Given the description of an element on the screen output the (x, y) to click on. 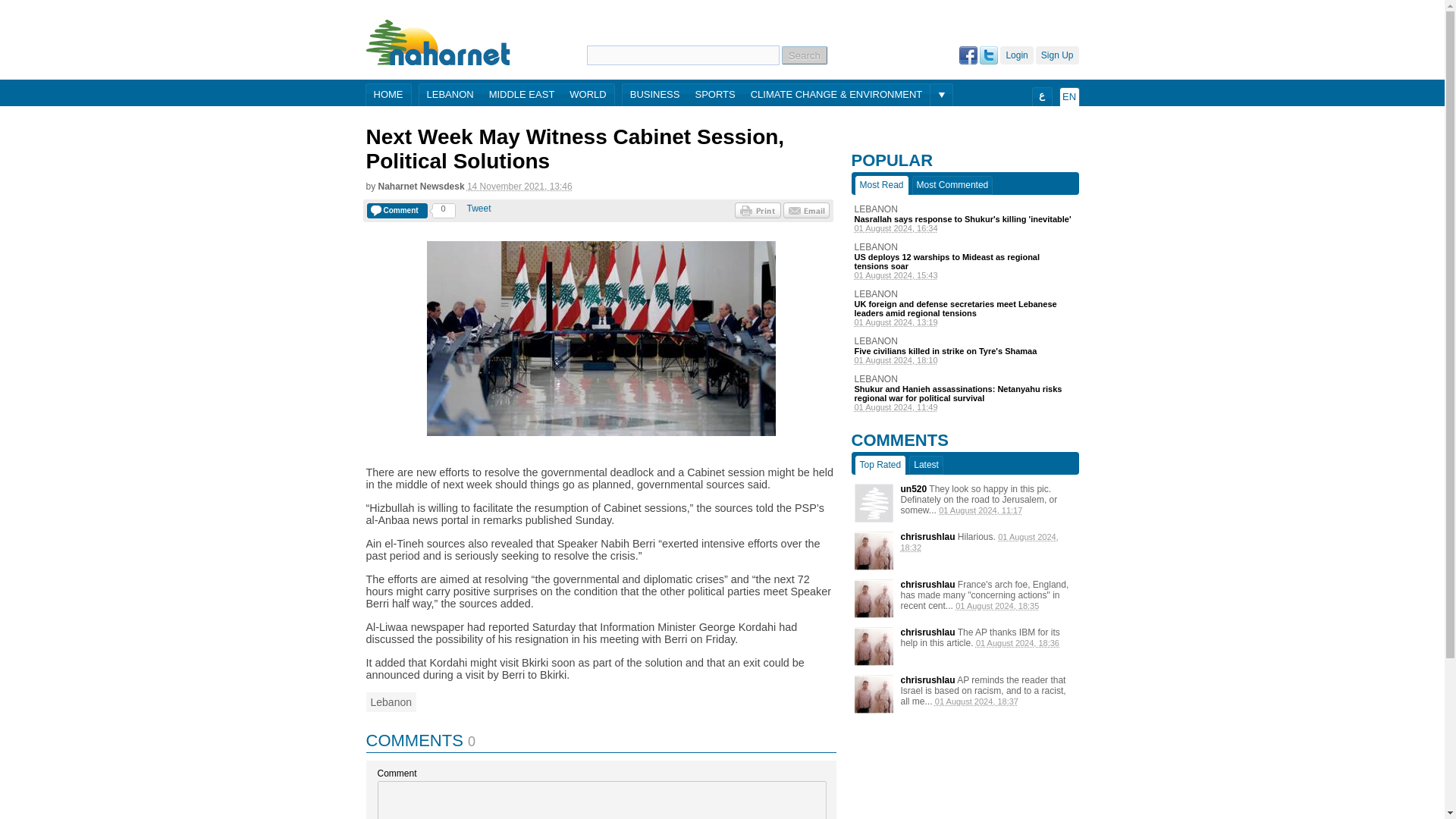
LEBANON (449, 95)
Comment (397, 210)
Naharnet (438, 41)
2024-08-01T08:17:42Z (980, 510)
2024-08-01T15:37:37Z (975, 700)
2024-08-01T15:10:46Z (964, 359)
2024-08-01T10:19:22Z (964, 321)
Search (804, 54)
Lebanon (390, 701)
2021-11-14T11:46:25Z (519, 185)
Tweet (479, 208)
LEBANON (964, 294)
LEBANON (964, 340)
2024-08-01T15:36:02Z (1017, 642)
